Given the description of an element on the screen output the (x, y) to click on. 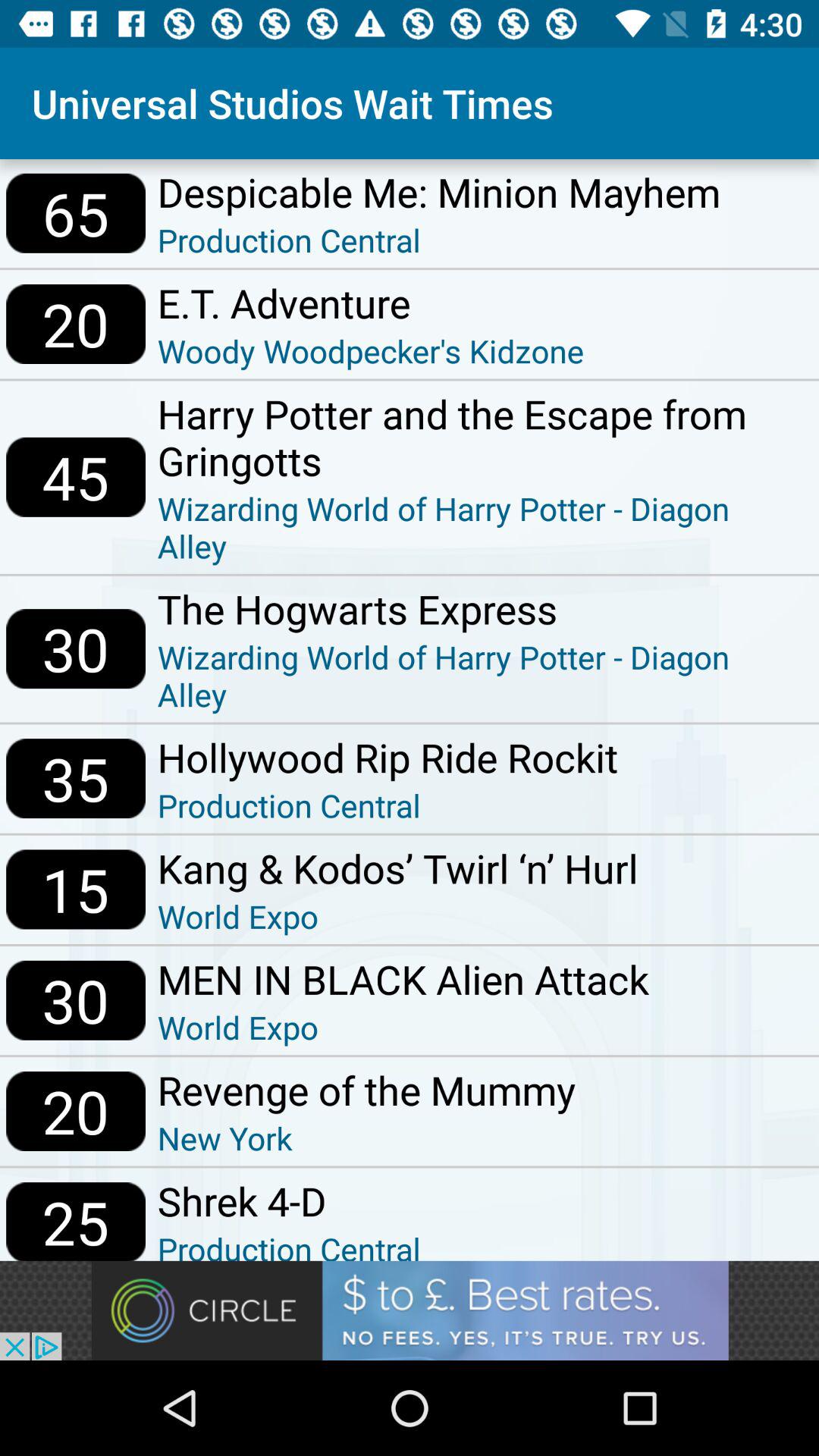
launch icon above the 30 (75, 889)
